Given the description of an element on the screen output the (x, y) to click on. 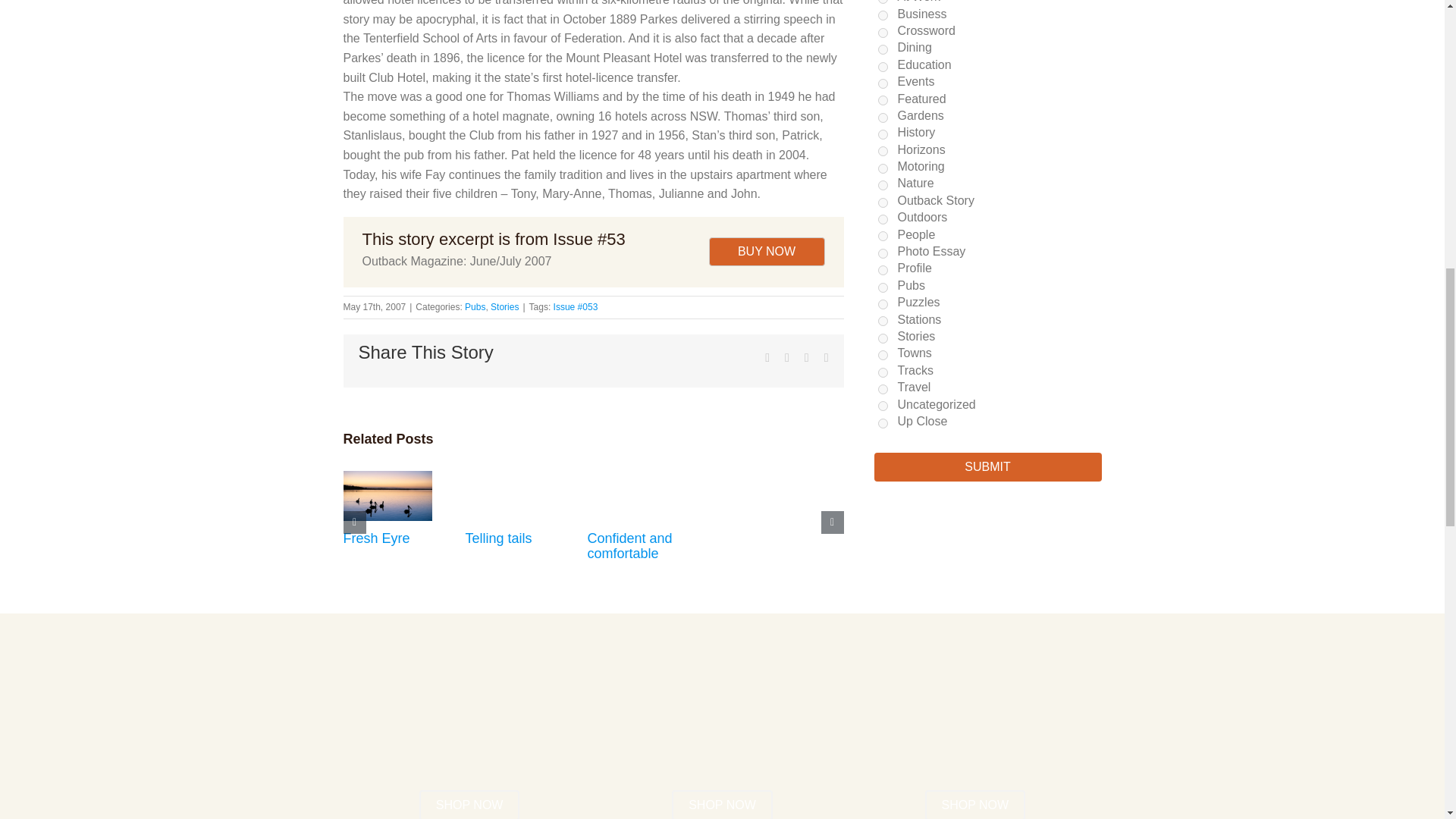
events (882, 83)
gardens (882, 117)
Telling tails (498, 538)
BUY NOW (765, 251)
Fresh Eyre (375, 538)
Telling tails (498, 538)
outdoors (882, 219)
Pubs (474, 307)
heading-issues-cta (721, 739)
dining (882, 49)
